Given the description of an element on the screen output the (x, y) to click on. 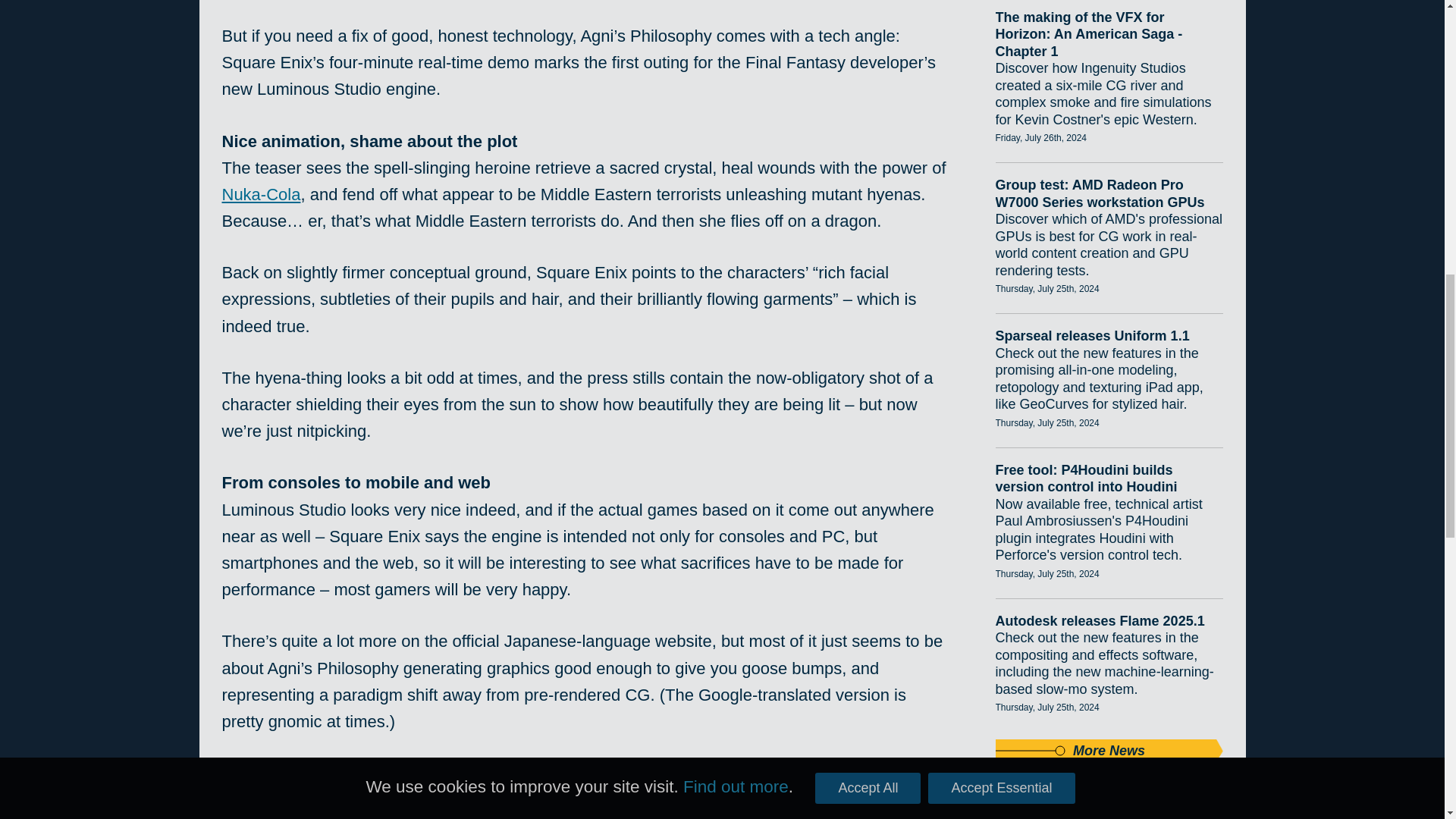
Group test: AMD Radeon Pro W7000 Series workstation GPUs (1108, 193)
Sparseal releases Uniform 1.1 (1108, 335)
Nuka-Cola (260, 194)
